Given the description of an element on the screen output the (x, y) to click on. 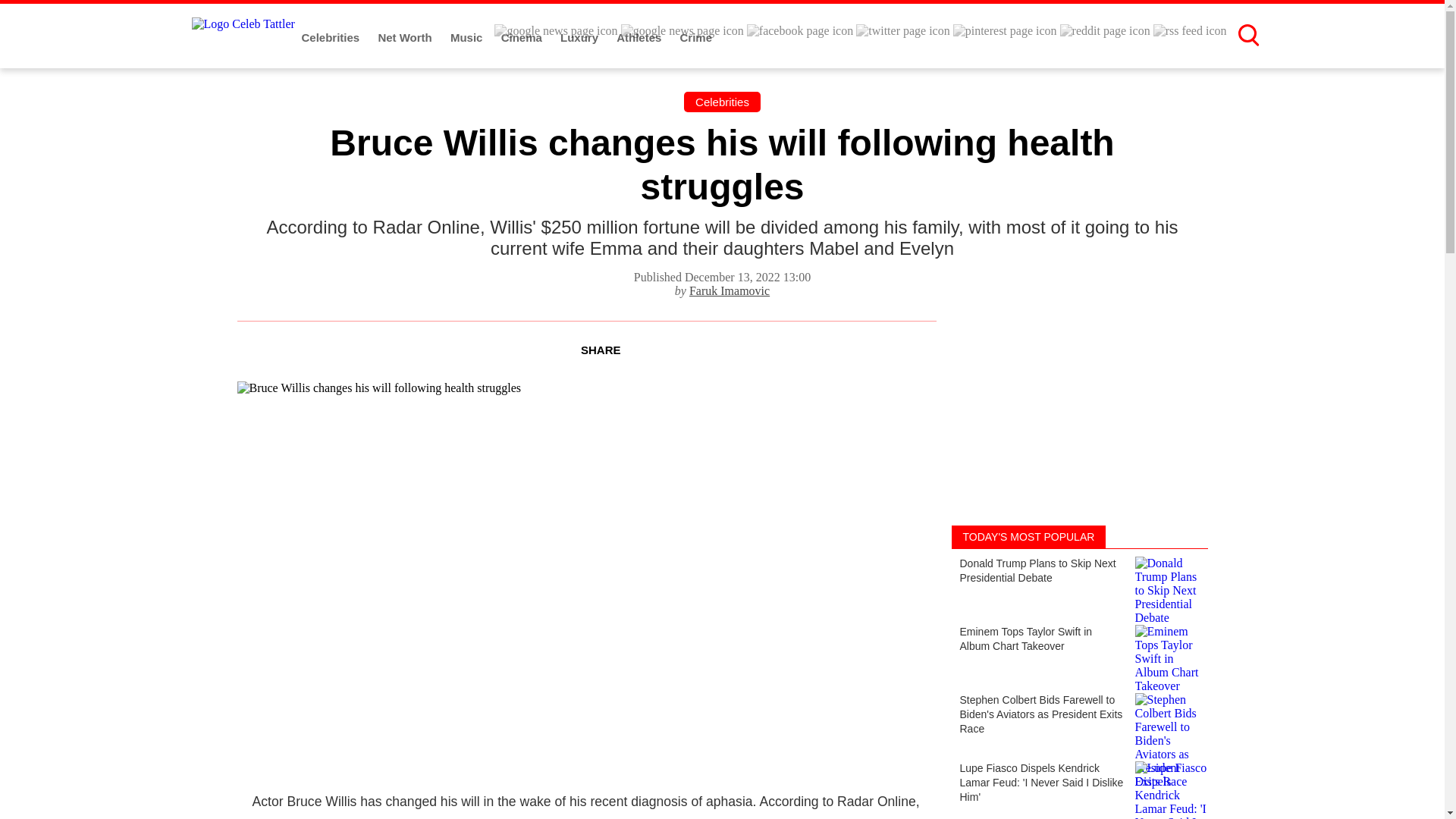
Cinema (522, 37)
Crime (696, 37)
Athletes (639, 37)
Net Worth (406, 37)
Luxury (580, 37)
Music (467, 37)
Eminem Tops Taylor Swift in Album Chart Takeover (1078, 651)
Celebrities (331, 37)
Faruk Imamovic (729, 290)
Donald Trump Plans to Skip Next Presidential Debate (1078, 582)
Celebrities (722, 101)
